Given the description of an element on the screen output the (x, y) to click on. 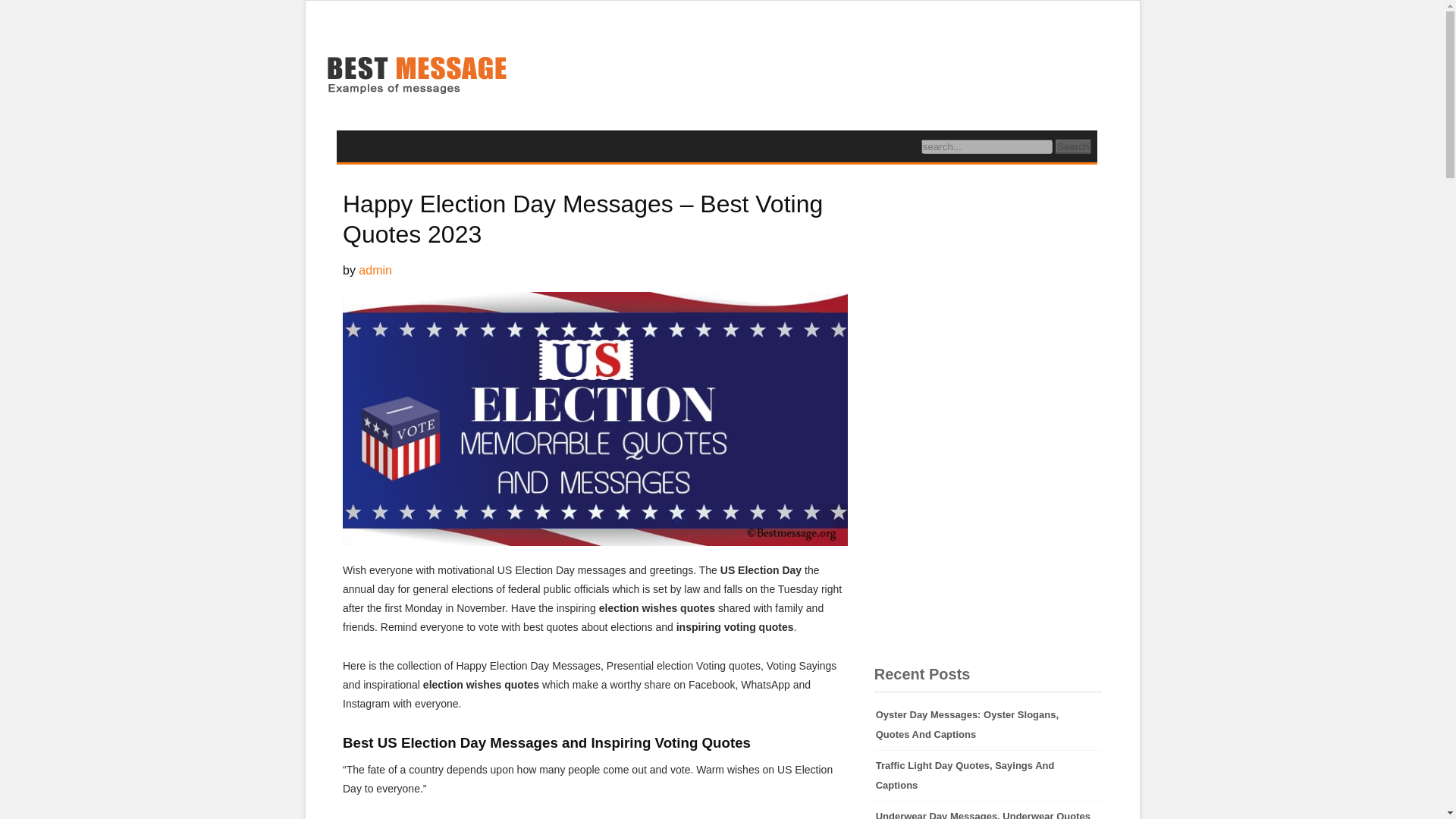
admin (374, 269)
Traffic Light Day Quotes, Sayings And Captions (988, 775)
Oyster Day Messages: Oyster Slogans, Quotes And Captions (988, 725)
Search (1072, 146)
Best Message (415, 76)
Search (1072, 146)
